Given the description of an element on the screen output the (x, y) to click on. 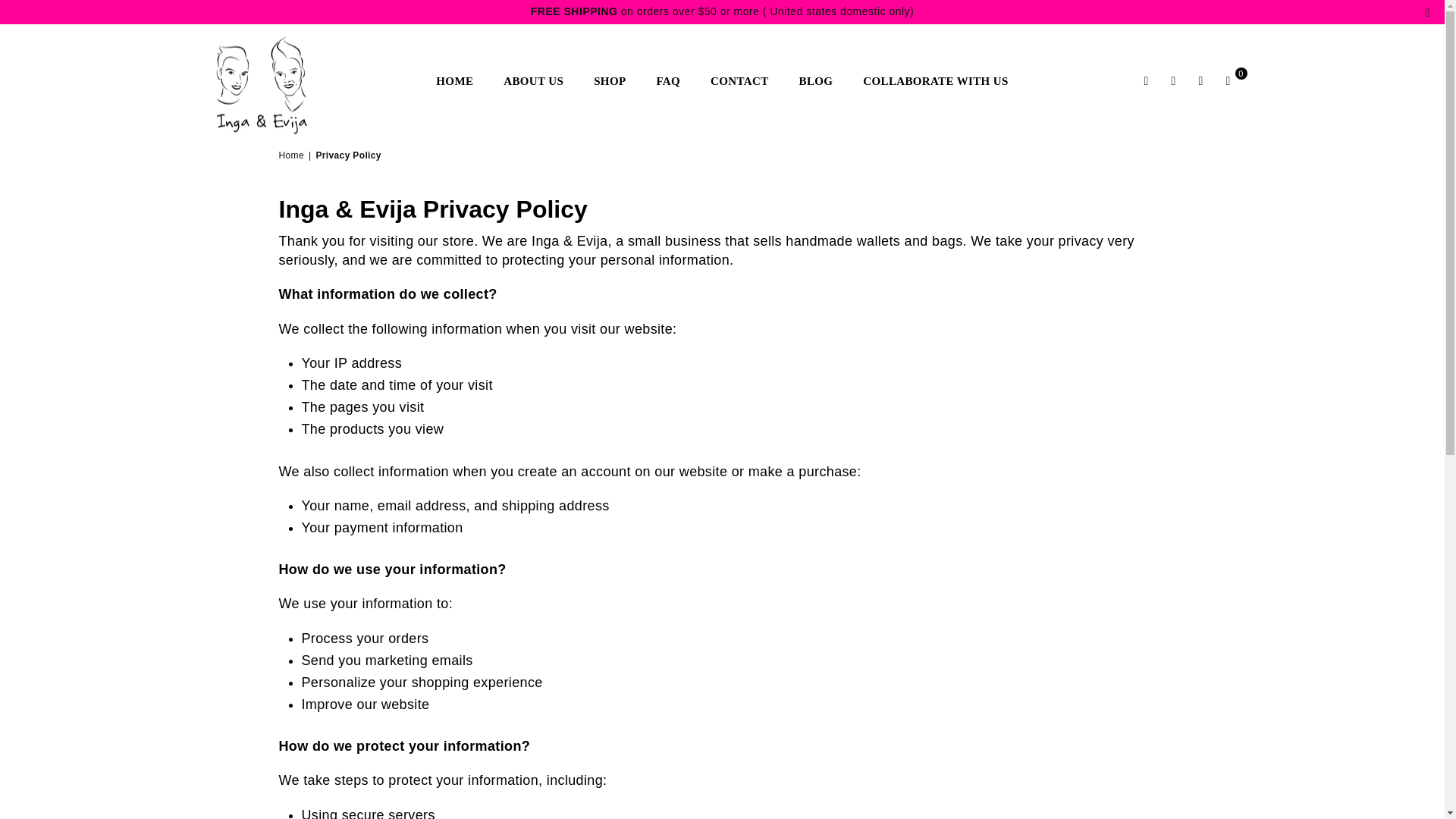
Wishlist (1201, 80)
BLOG (815, 81)
SHOP (609, 81)
ABOUT US (533, 81)
COLLABORATE WITH US (935, 81)
Search (1146, 80)
Cart (1227, 80)
CONTACT (738, 81)
Back to the home page (292, 155)
FAQ (668, 81)
